Given the description of an element on the screen output the (x, y) to click on. 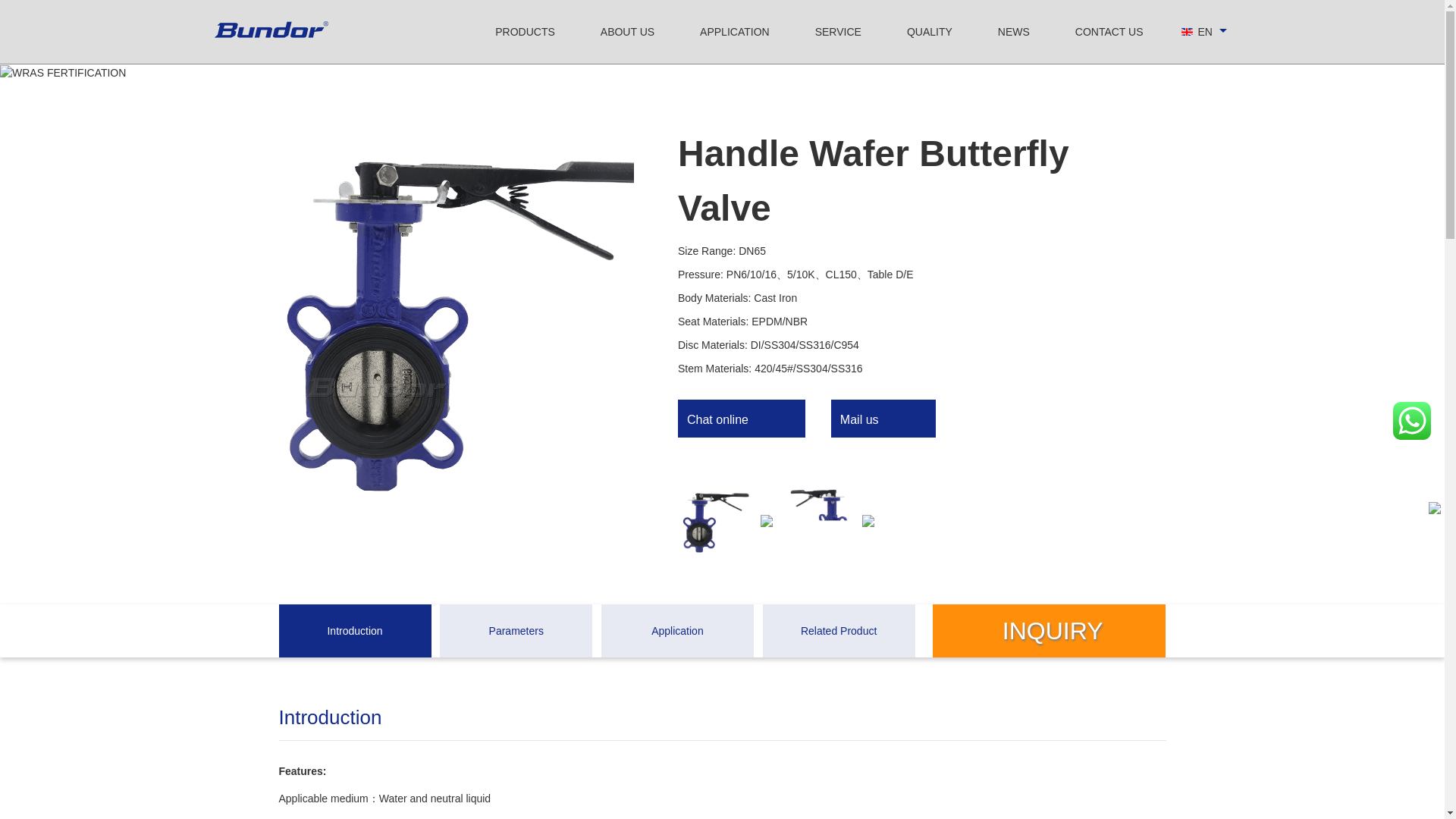
NEWS (1013, 31)
PRODUCTS (524, 31)
APPLICATION (735, 31)
CONTACT US (1108, 31)
ABOUT US (626, 31)
QUALITY (929, 31)
SERVICE (838, 31)
EN (1203, 31)
